Given the description of an element on the screen output the (x, y) to click on. 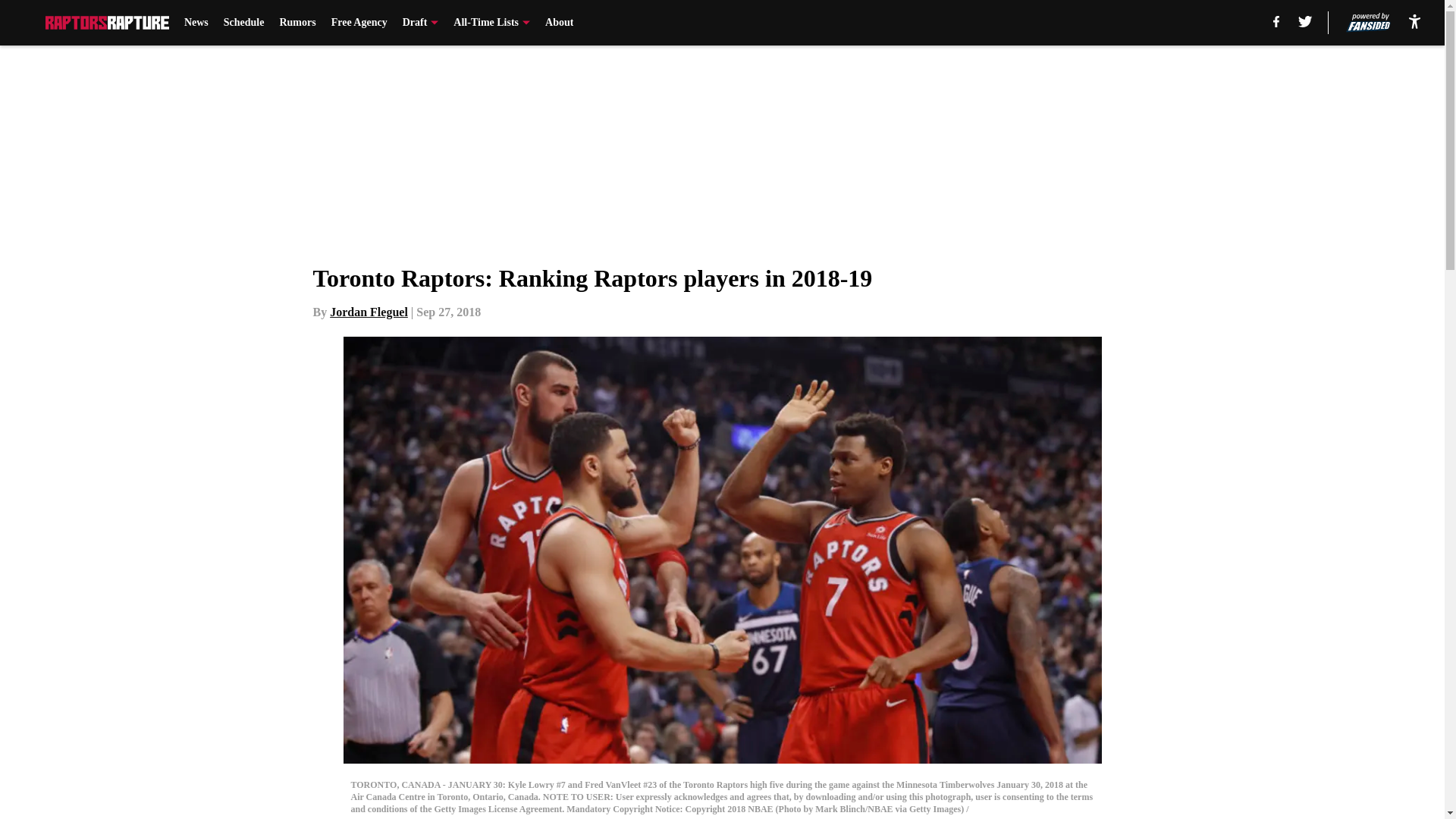
About (558, 22)
All-Time Lists (490, 22)
Schedule (244, 22)
Free Agency (359, 22)
Jordan Fleguel (368, 311)
Draft (421, 22)
News (196, 22)
Rumors (297, 22)
